Given the description of an element on the screen output the (x, y) to click on. 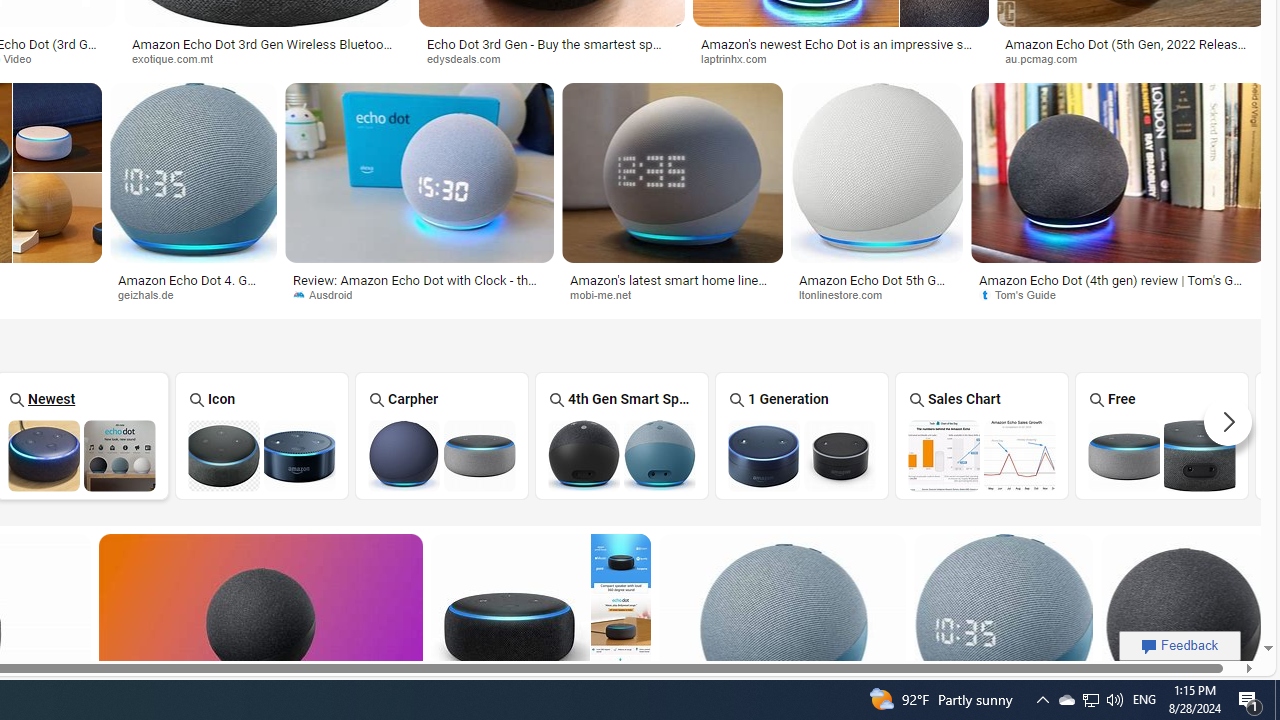
Amazon Echo Dot 4th Gen Smart Speaker with Alexa (622, 455)
mobi-me.net (607, 294)
Ausdroid (419, 295)
mobi-me.net (671, 295)
Amazon Echo Dot Icon (262, 455)
Sales Chart (981, 435)
Amazon Echo Dot 1 Generation (802, 455)
Image result for Newest Amazon Echo Dot (1182, 623)
Free Amazon Echo Dot Free (1162, 435)
Echo Dot 3rd Gen - Buy the smartest speaker in 2020 (551, 50)
exotique.com.mt (267, 58)
Amazon Echo Dot Sales Chart (981, 455)
exotique.com.mt (178, 57)
